Given the description of an element on the screen output the (x, y) to click on. 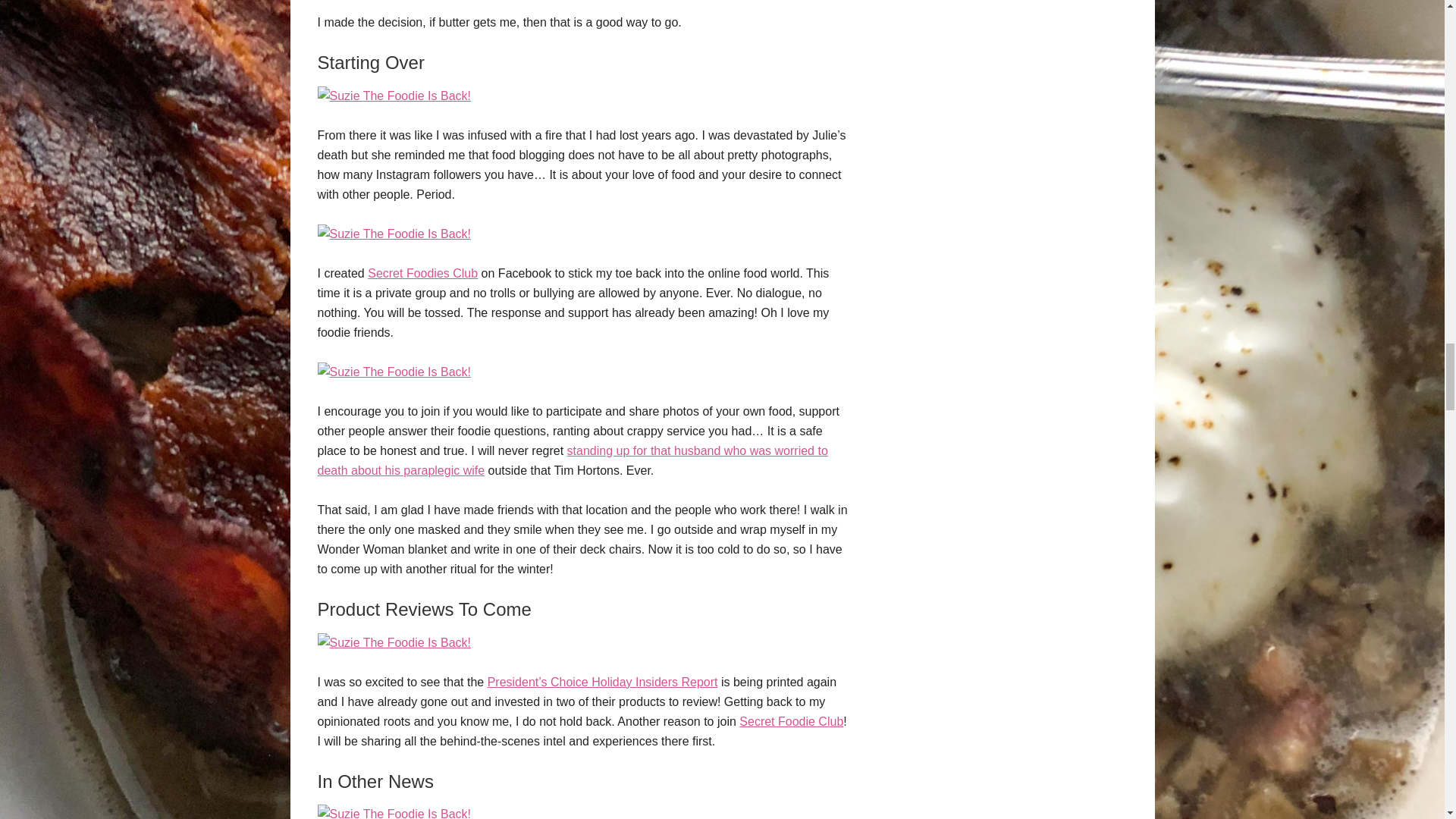
Secret Foodie Club (791, 721)
Secret Foodies Club (422, 273)
Suzie The Foodie Is Back! (393, 95)
